Given the description of an element on the screen output the (x, y) to click on. 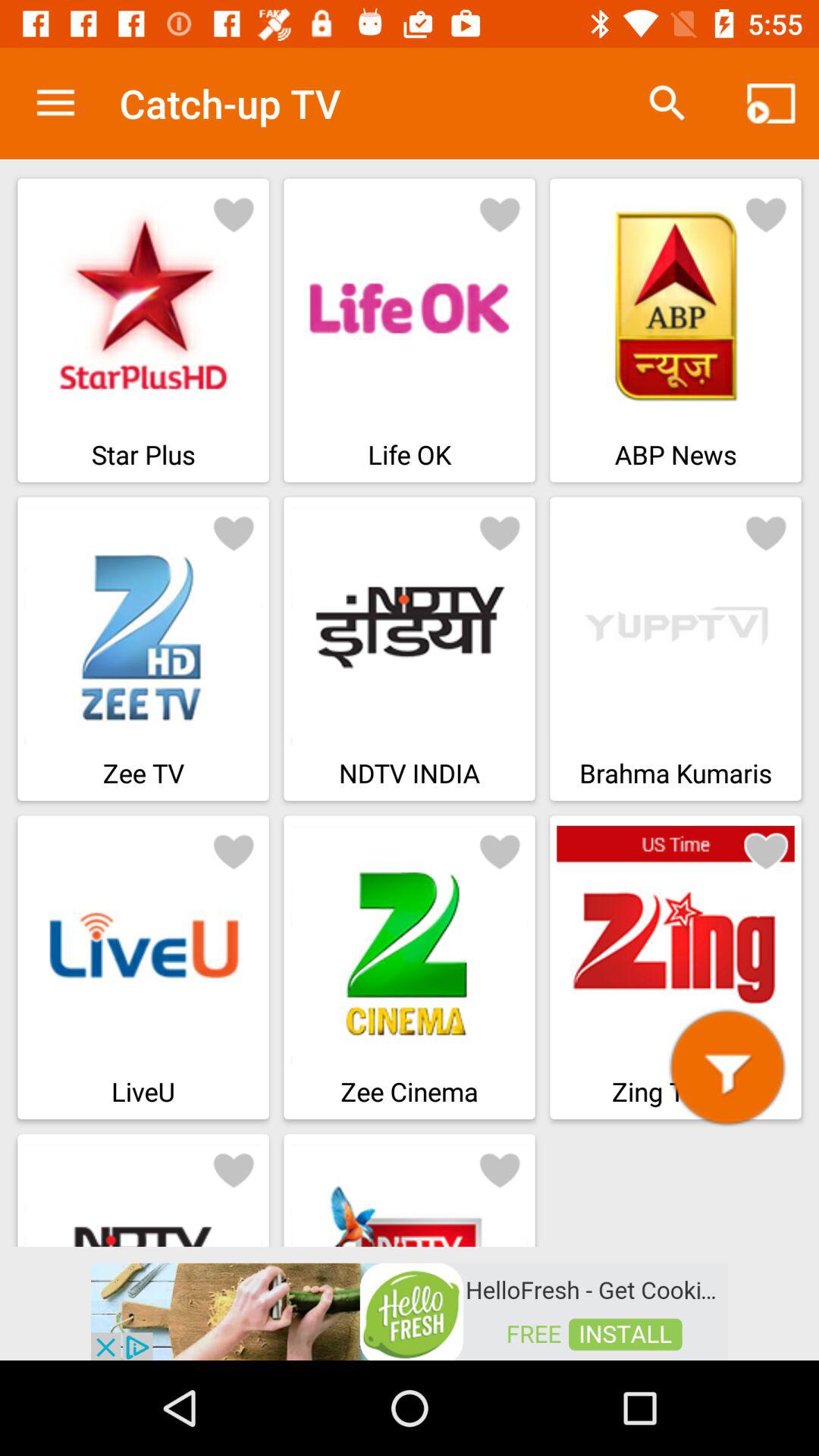
mark as favorite (233, 850)
